Given the description of an element on the screen output the (x, y) to click on. 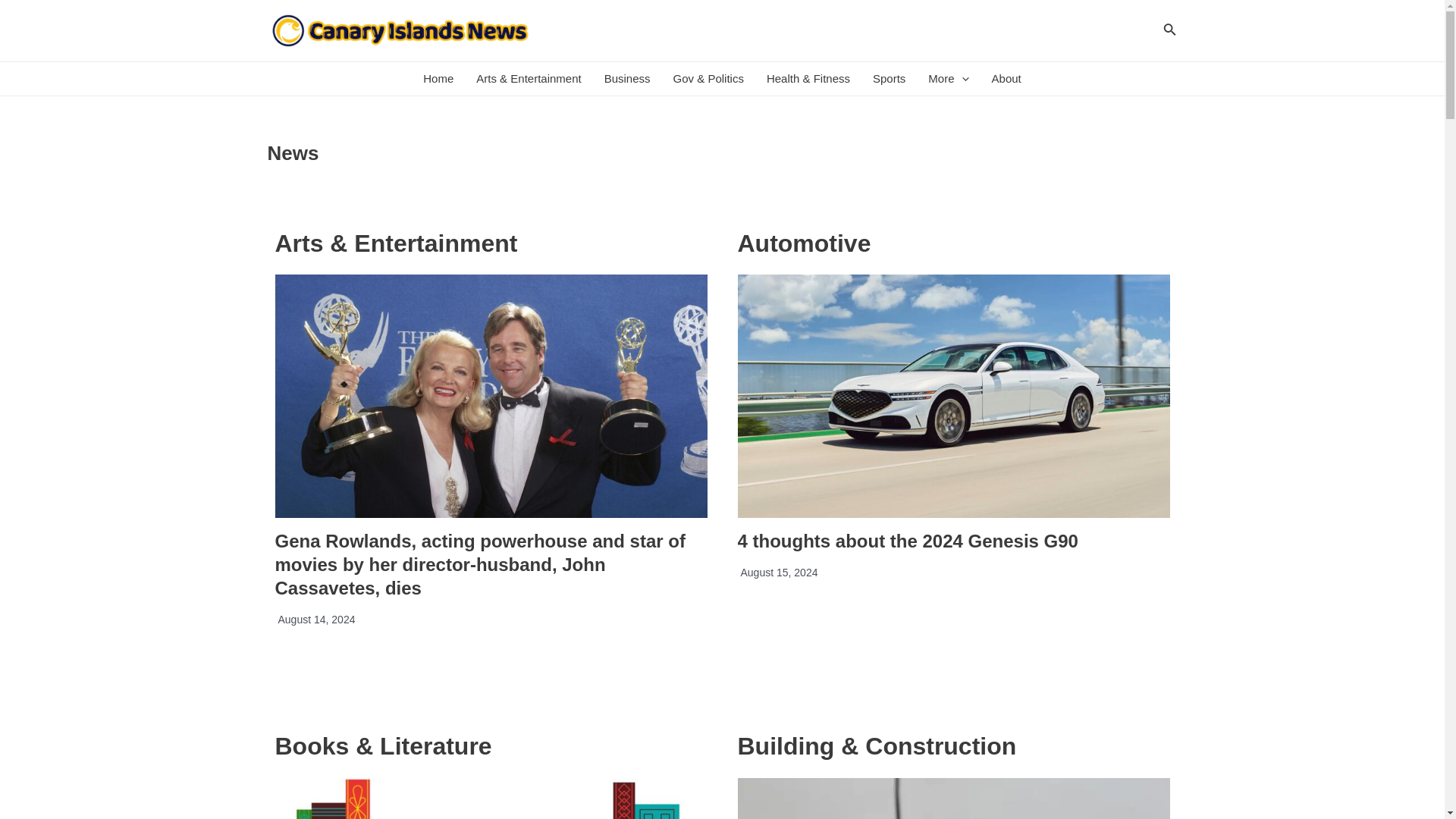
Home (438, 78)
Sports (889, 78)
About (1005, 78)
More (948, 78)
Business (627, 78)
